Given the description of an element on the screen output the (x, y) to click on. 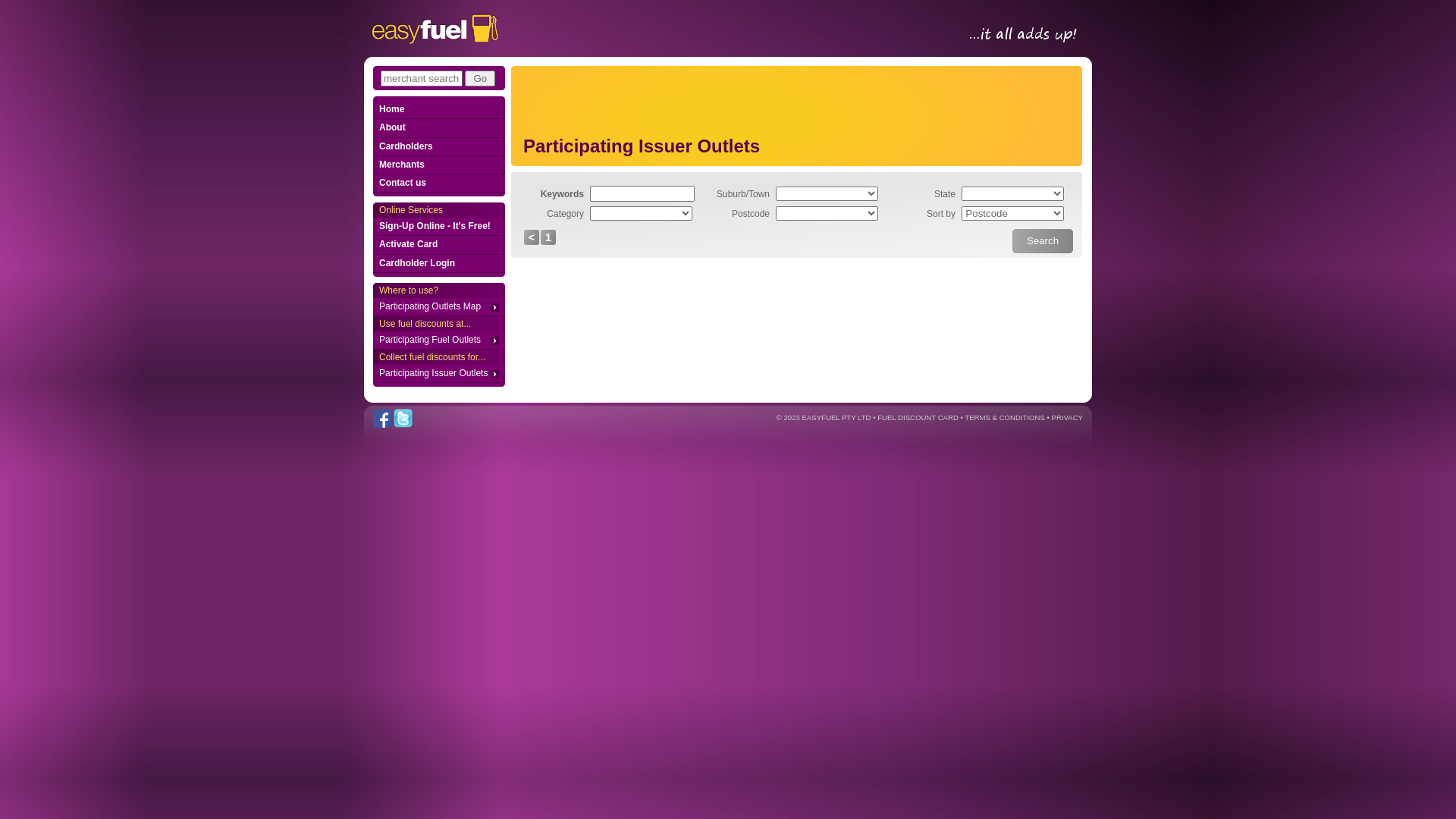
Contact us Element type: text (439, 183)
Go Element type: text (479, 78)
Participating Outlets Map Element type: text (439, 307)
FUEL DISCOUNT CARD Element type: text (917, 417)
Participating Issuer Outlets Element type: text (439, 373)
Cardholders Element type: text (439, 147)
Search Element type: text (1042, 241)
Cardholder Login Element type: text (439, 263)
< Element type: text (531, 236)
PRIVACY Element type: text (1066, 417)
Participating Fuel Outlets Element type: text (439, 340)
Sign-Up Online - It's Free! Element type: text (439, 226)
About Element type: text (439, 128)
Activate Card Element type: text (439, 244)
1 Element type: text (547, 236)
Merchants Element type: text (439, 165)
TERMS & CONDITIONS Element type: text (1004, 417)
Home Element type: text (439, 109)
